Given the description of an element on the screen output the (x, y) to click on. 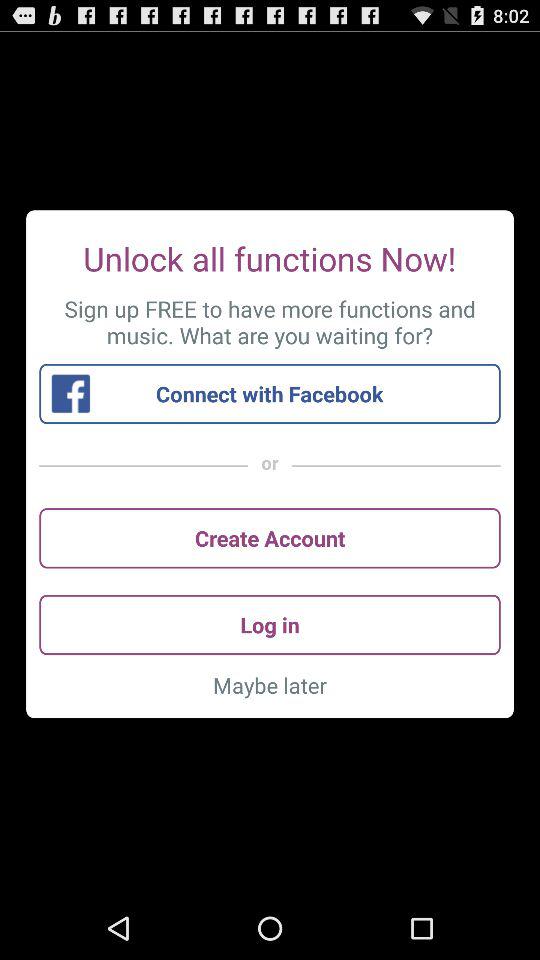
tap icon below the or app (269, 538)
